Given the description of an element on the screen output the (x, y) to click on. 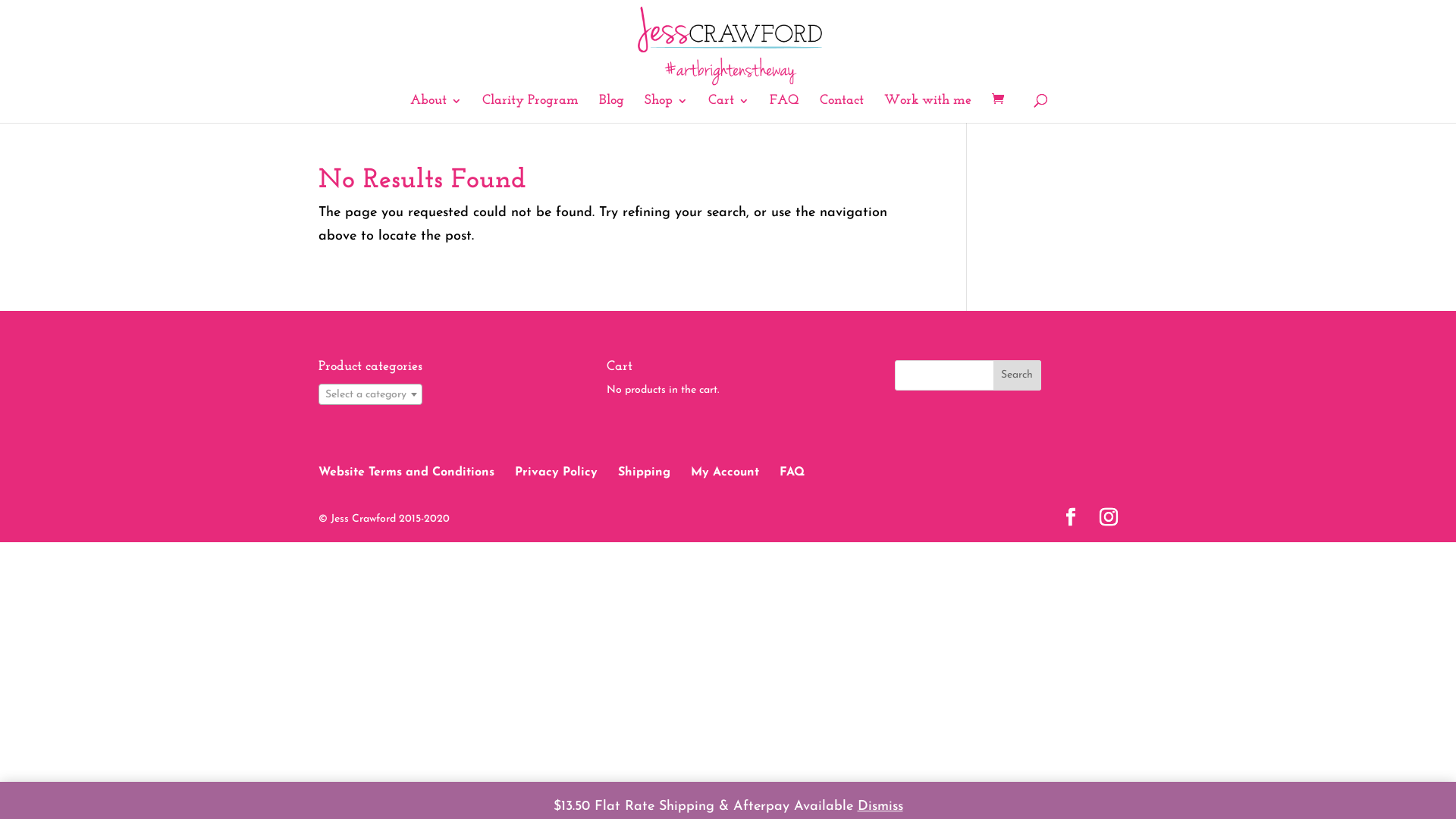
FAQ Element type: text (784, 108)
Website Terms and Conditions Element type: text (406, 472)
Shipping Element type: text (644, 472)
About Element type: text (435, 108)
Search Element type: text (1017, 375)
Blog Element type: text (611, 108)
FAQ Element type: text (791, 472)
Work with me Element type: text (927, 108)
Clarity Program Element type: text (530, 108)
Cart Element type: text (728, 108)
Dismiss Element type: text (879, 806)
Contact Element type: text (841, 108)
Privacy Policy Element type: text (555, 472)
Shop Element type: text (665, 108)
My Account Element type: text (724, 472)
